Given the description of an element on the screen output the (x, y) to click on. 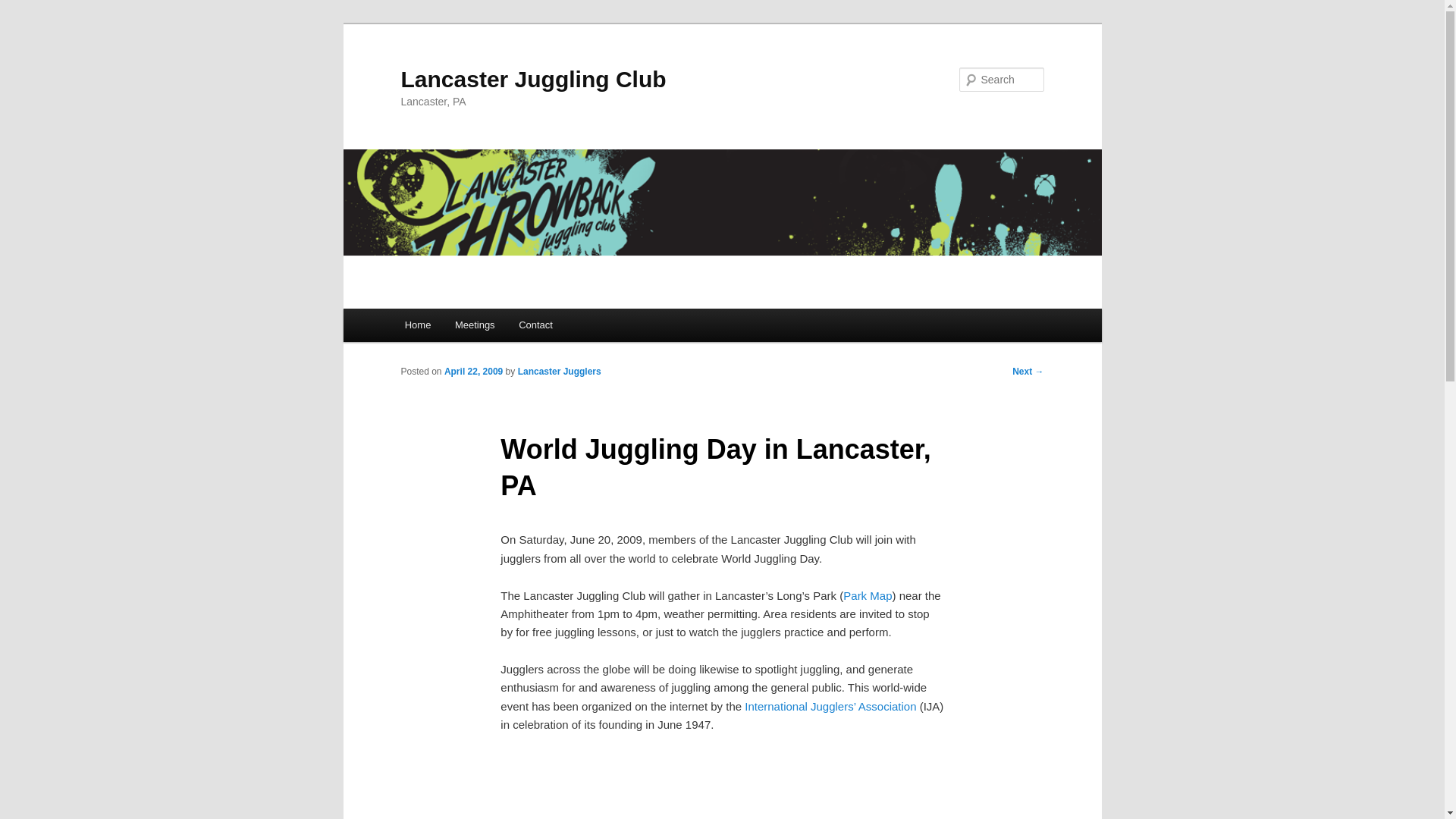
Skip to primary content (472, 327)
4:42 pm (473, 371)
Meetings (474, 324)
Lancaster Jugglers (559, 371)
Skip to secondary content (479, 327)
April 22, 2009 (473, 371)
Skip to secondary content (479, 327)
Search (24, 8)
Lancaster Juggling Club (532, 78)
Park Map (867, 594)
Home (417, 324)
Lancaster Juggling Club (532, 78)
Contact (535, 324)
Skip to primary content (472, 327)
View all posts by Lancaster Jugglers (559, 371)
